Given the description of an element on the screen output the (x, y) to click on. 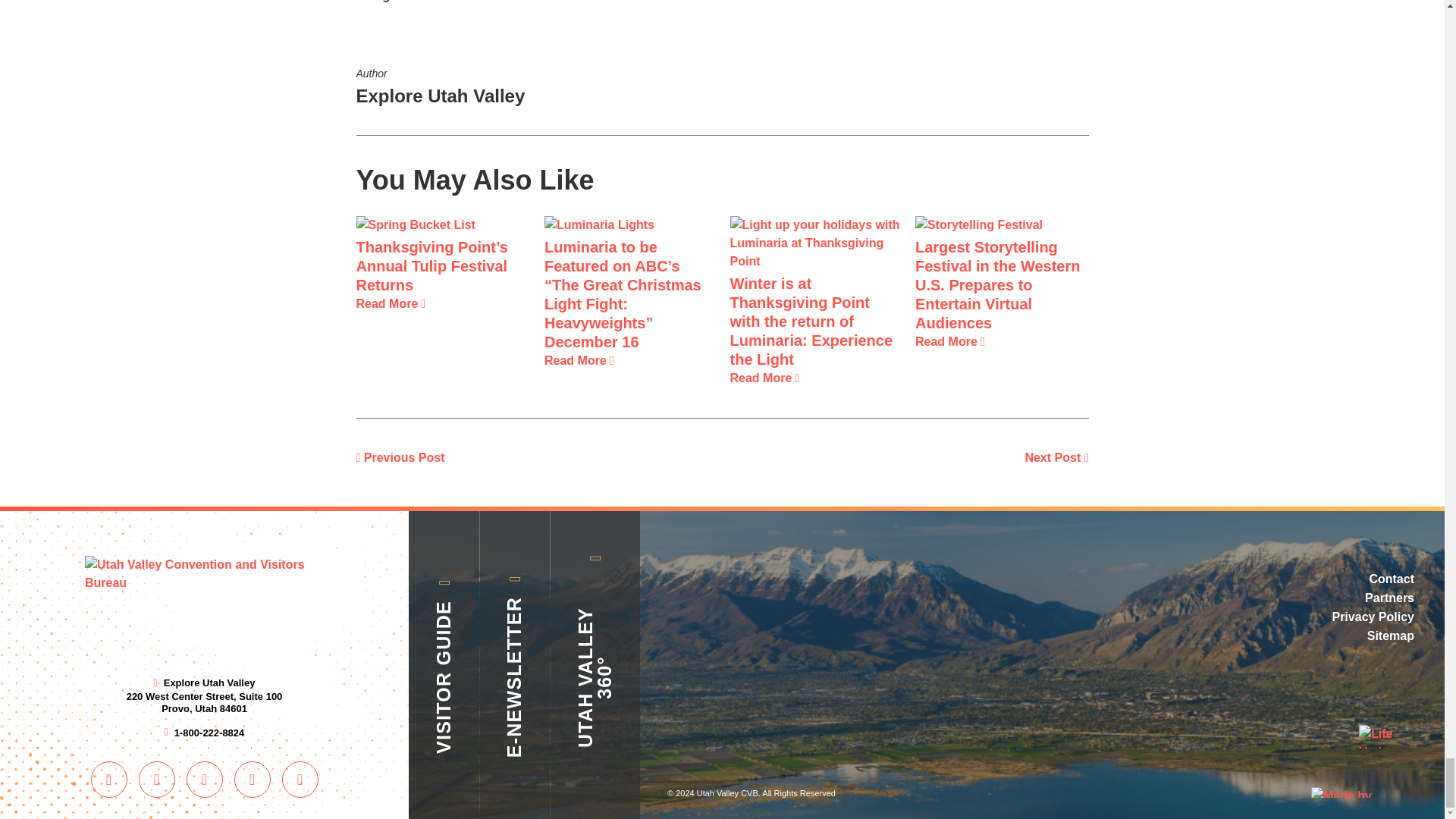
Visit our instagram page (156, 779)
HALE CENTER THEATER OREM TO PRODUCE SEUSSICAL JR (1056, 457)
Visit our youtube page (203, 779)
Visit our pinterest page (107, 779)
